Given the description of an element on the screen output the (x, y) to click on. 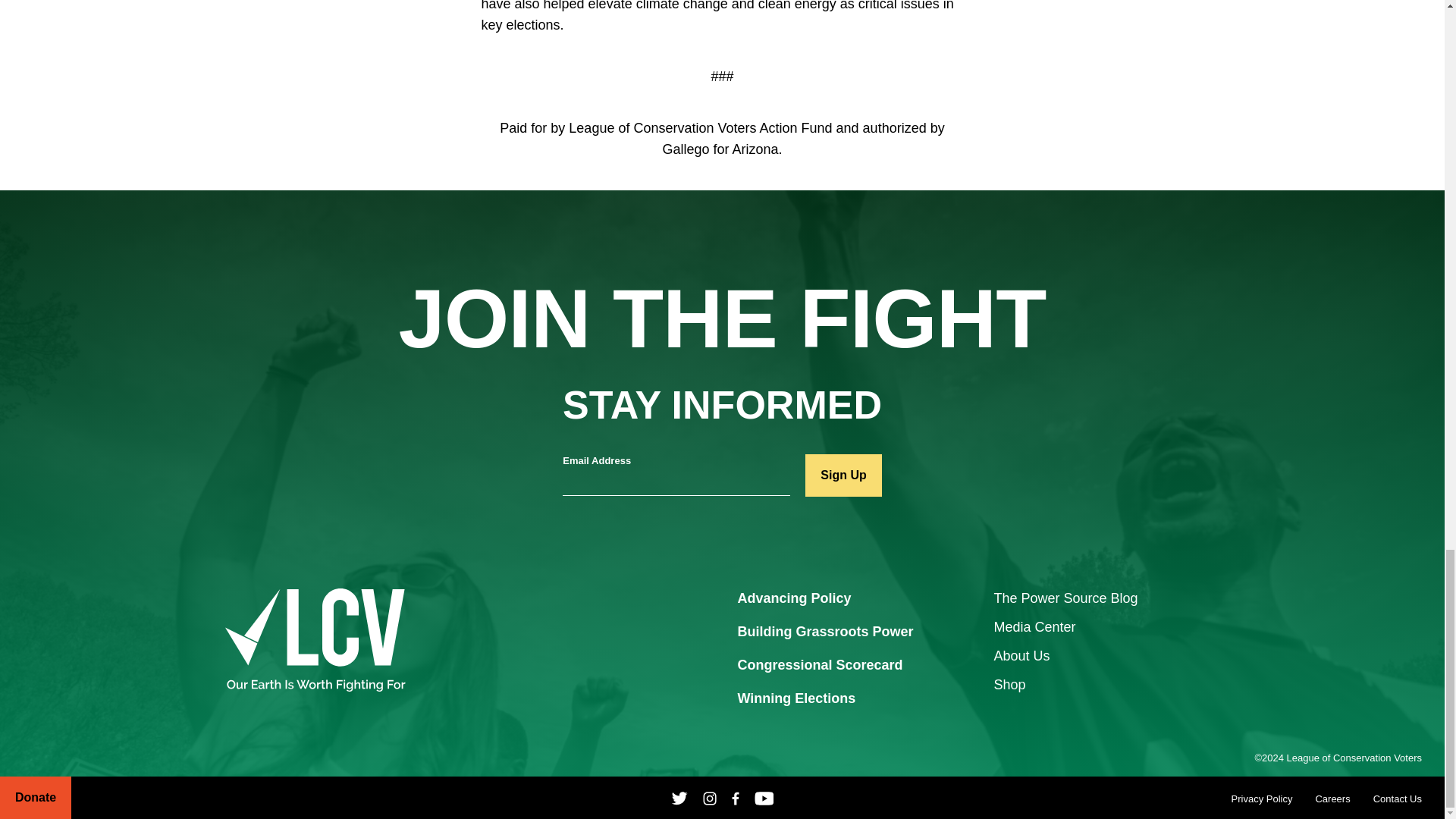
Instagram (709, 797)
The Power Source Blog (1064, 598)
YouTube (764, 797)
Twitter (679, 797)
Winning Elections (796, 699)
Sign Up (842, 475)
Advancing Policy (793, 598)
Media Center (1033, 626)
Sign Up (842, 475)
Building Grassroots Power (824, 632)
Congressional Scorecard (819, 666)
